Given the description of an element on the screen output the (x, y) to click on. 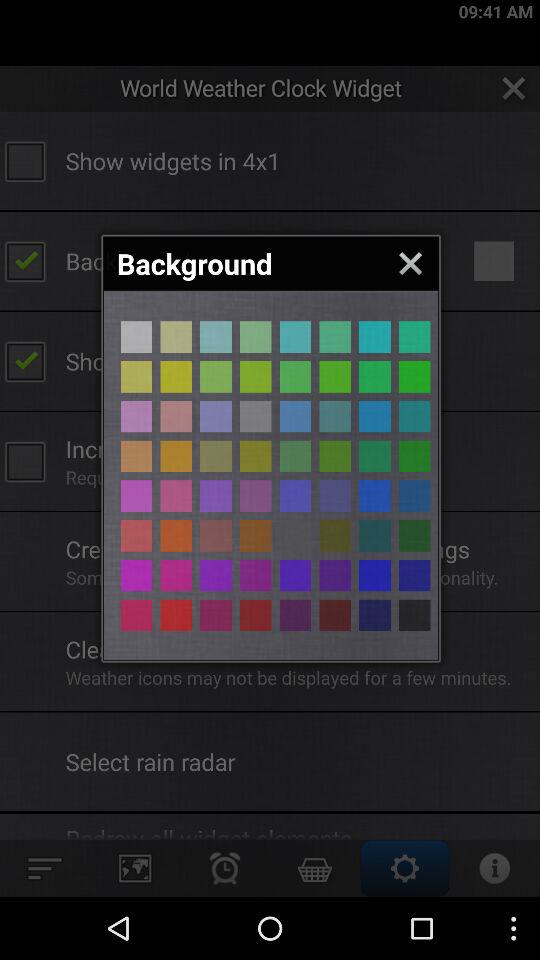
backround button (414, 376)
